Given the description of an element on the screen output the (x, y) to click on. 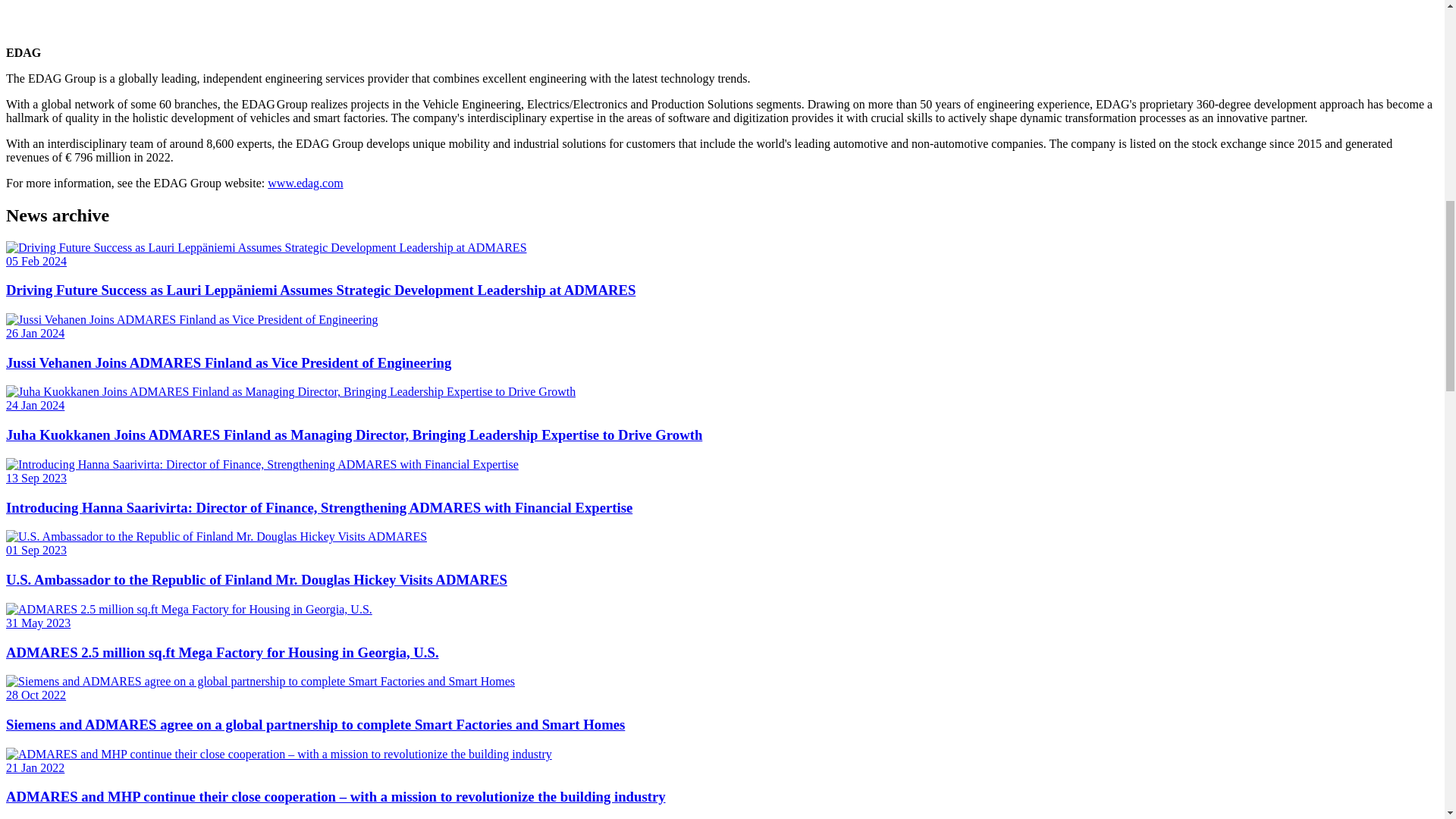
www.edag.com (304, 182)
